Given the description of an element on the screen output the (x, y) to click on. 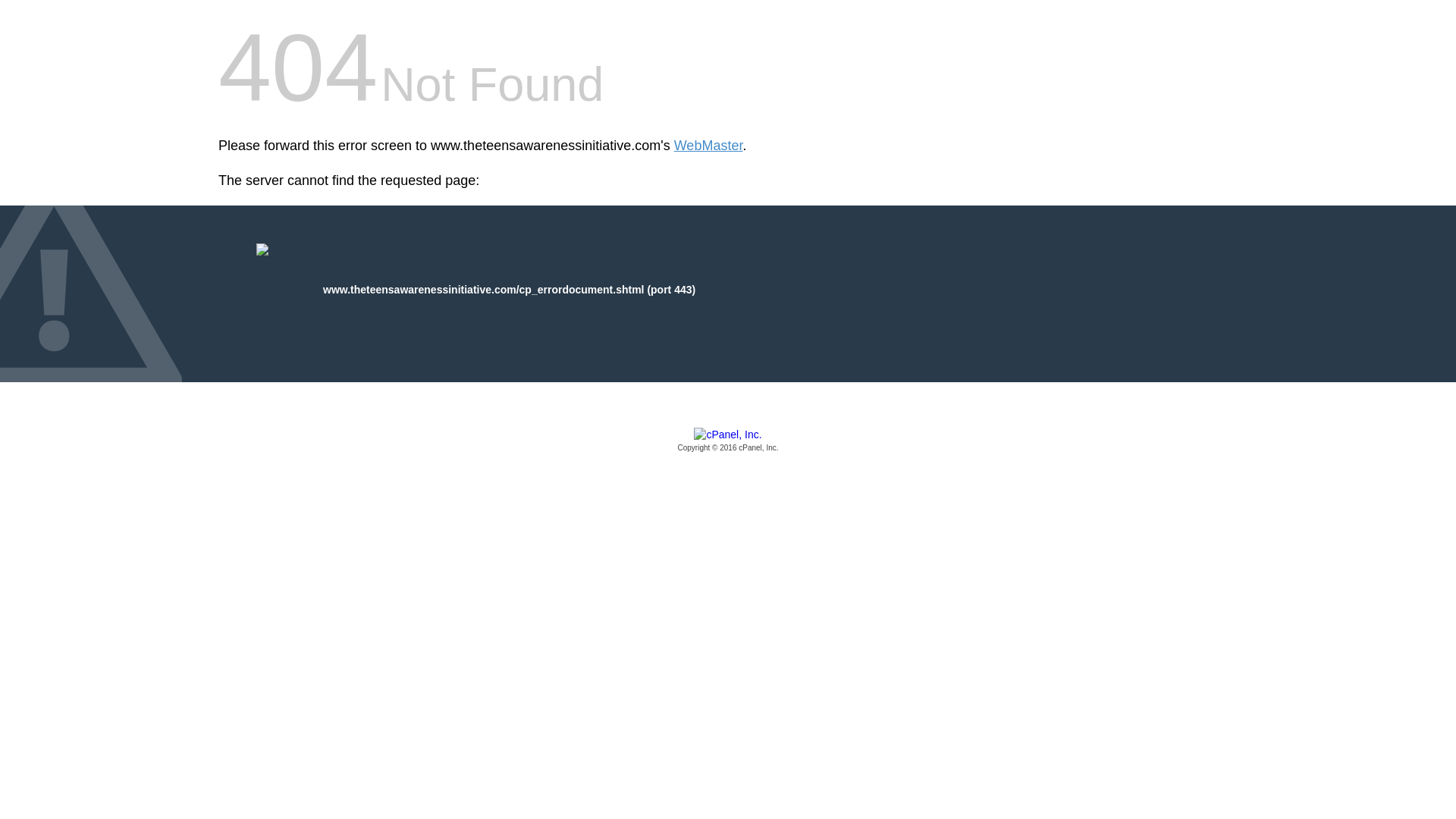
cPanel, Inc. (727, 440)
WebMaster (708, 145)
